Given the description of an element on the screen output the (x, y) to click on. 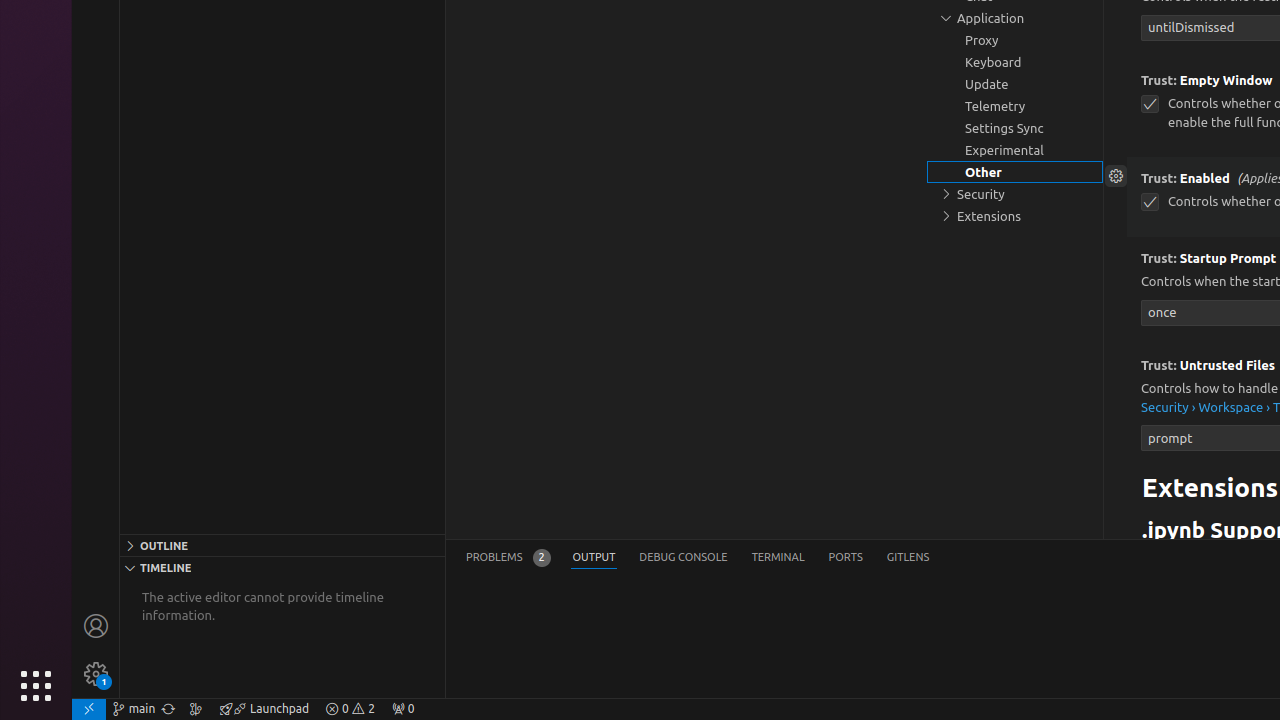
Accounts Element type: push-button (96, 626)
Other, group Element type: tree-item (1015, 172)
Keyboard, group Element type: tree-item (1015, 62)
Security, group Element type: tree-item (1015, 194)
Ports Element type: page-tab (845, 557)
